Given the description of an element on the screen output the (x, y) to click on. 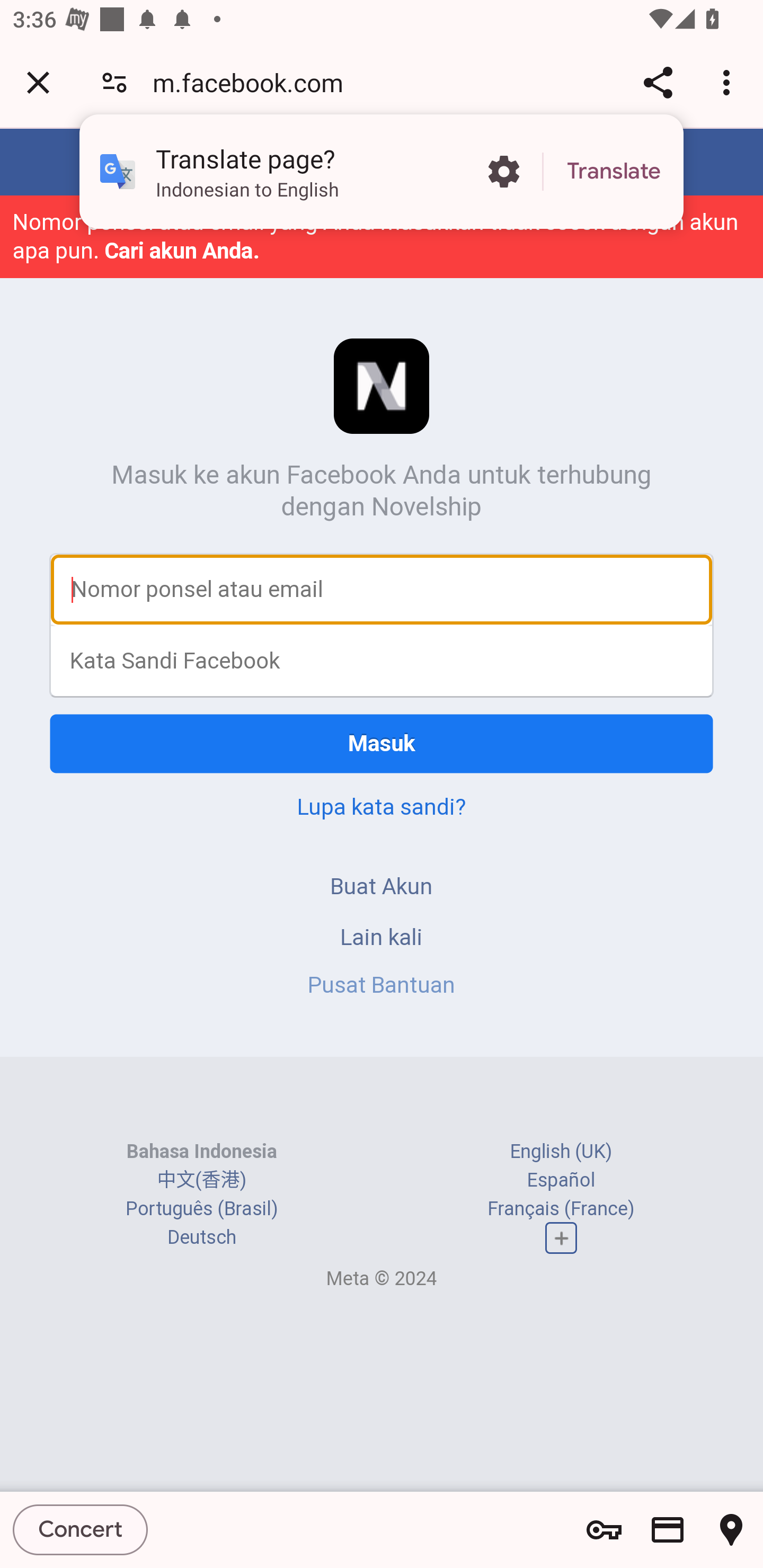
Close tab (38, 82)
Share (657, 82)
Customize and control Google Chrome (729, 82)
Connection is secure (114, 81)
m.facebook.com (254, 81)
Translate (613, 171)
More options in the Translate page? (503, 171)
Cari akun Anda. (181, 249)
Masuk (381, 744)
Lupa kata sandi? (381, 806)
Buat Akun (381, 885)
Lain kali (381, 936)
Pusat Bantuan (381, 983)
English (UK) (560, 1151)
中文(香港) (201, 1179)
Español (560, 1179)
Português (Brasil) (201, 1207)
Français (France) (560, 1207)
Daftar bahasa lengkap (560, 1237)
Deutsch (201, 1236)
Concert (80, 1529)
Show saved passwords and password options (603, 1530)
Show saved payment methods (667, 1530)
Show saved addresses (731, 1530)
